Given the description of an element on the screen output the (x, y) to click on. 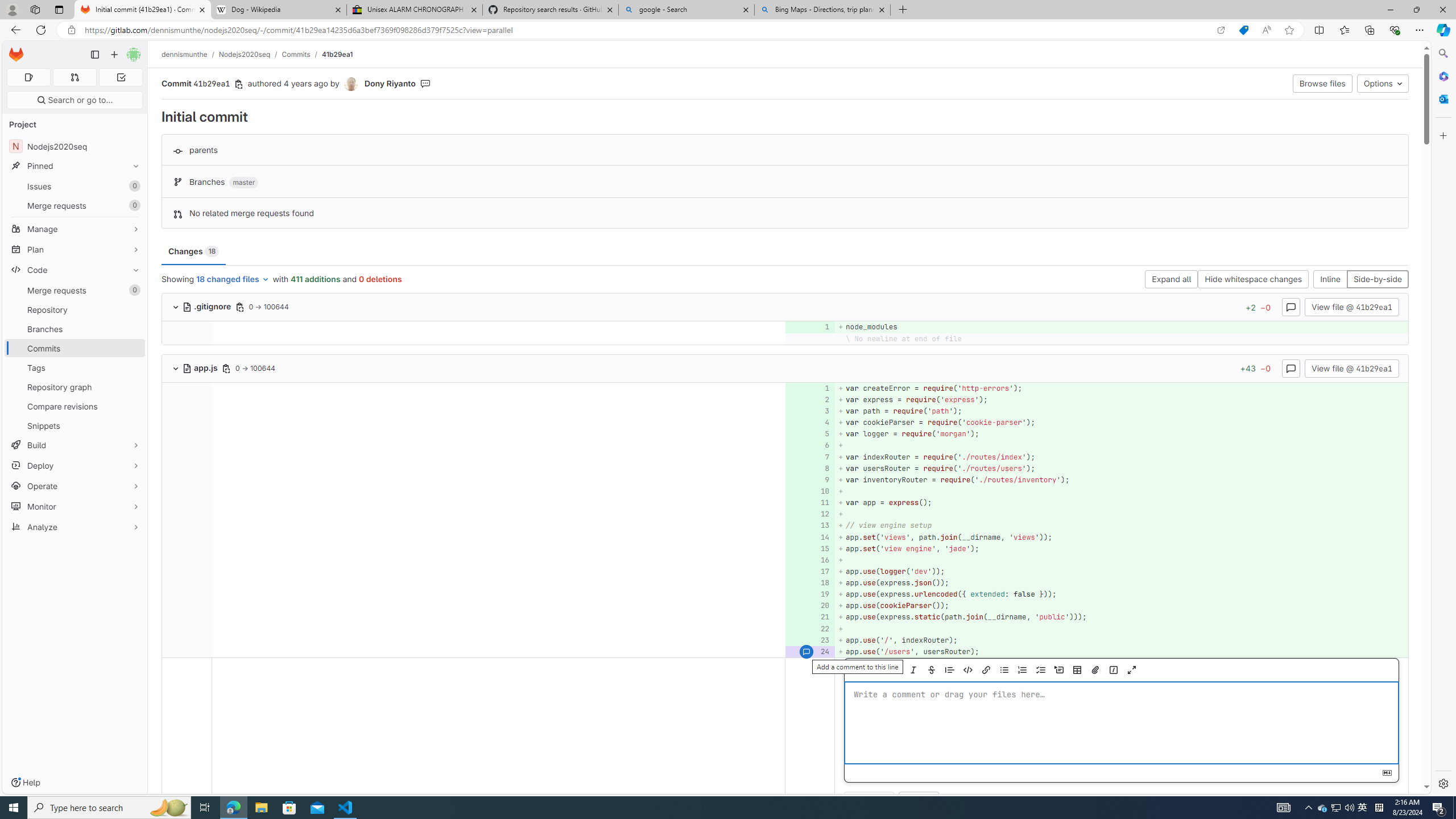
Pin Branches (132, 328)
Dony Riyanto's avatar (350, 83)
Add a comment to this line 17 (809, 571)
Add a comment to this line 11 (809, 503)
+ app.set('view engine', 'jade');  (1120, 548)
Copy commit SHA (238, 83)
41b29ea1 (337, 53)
Pin Commits (132, 348)
19 (808, 594)
Insert code (967, 670)
15 (808, 548)
Browse files (1322, 83)
Class: line_content parallel left-side (497, 651)
